Given the description of an element on the screen output the (x, y) to click on. 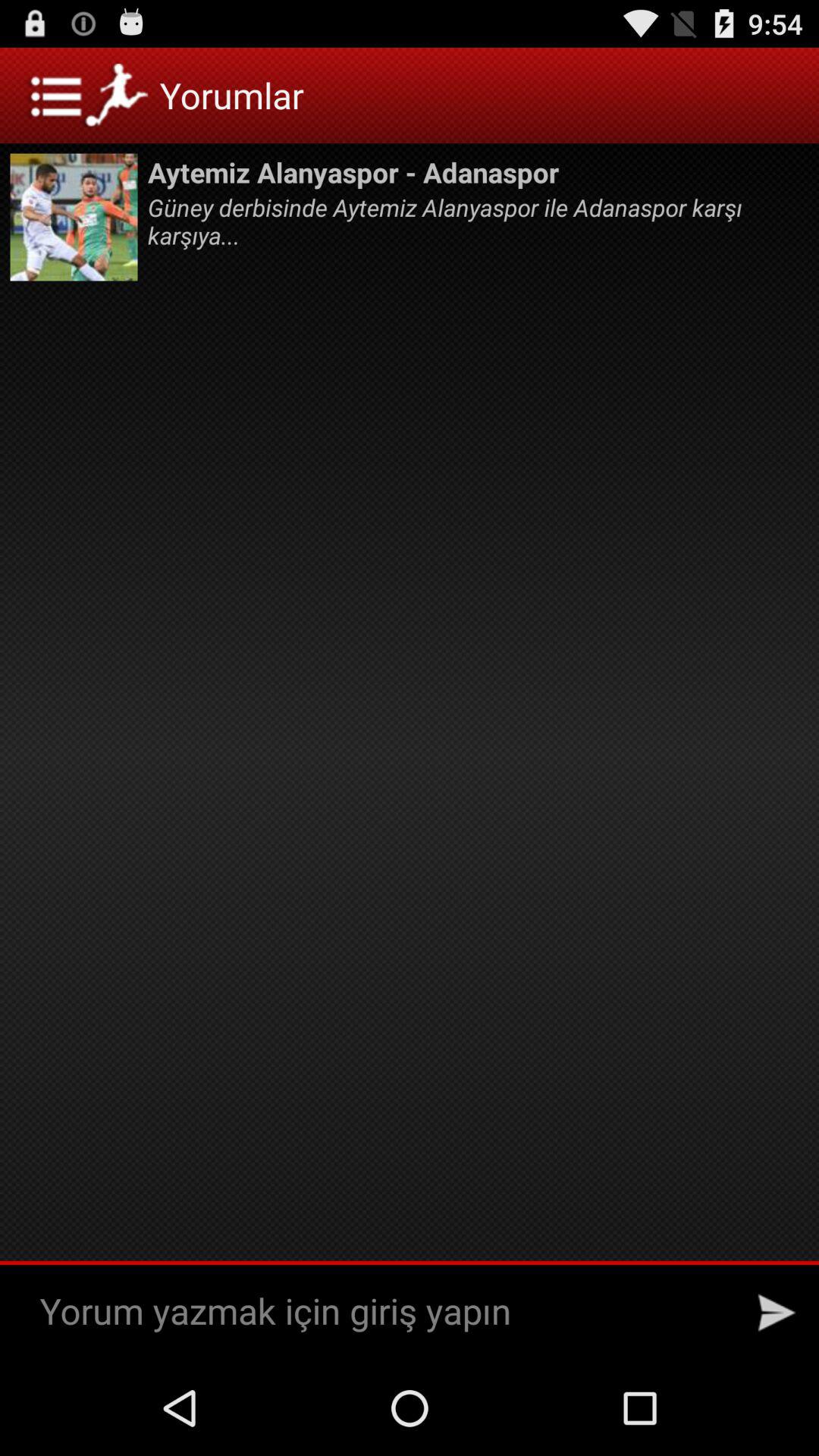
write a message (382, 1312)
